Given the description of an element on the screen output the (x, y) to click on. 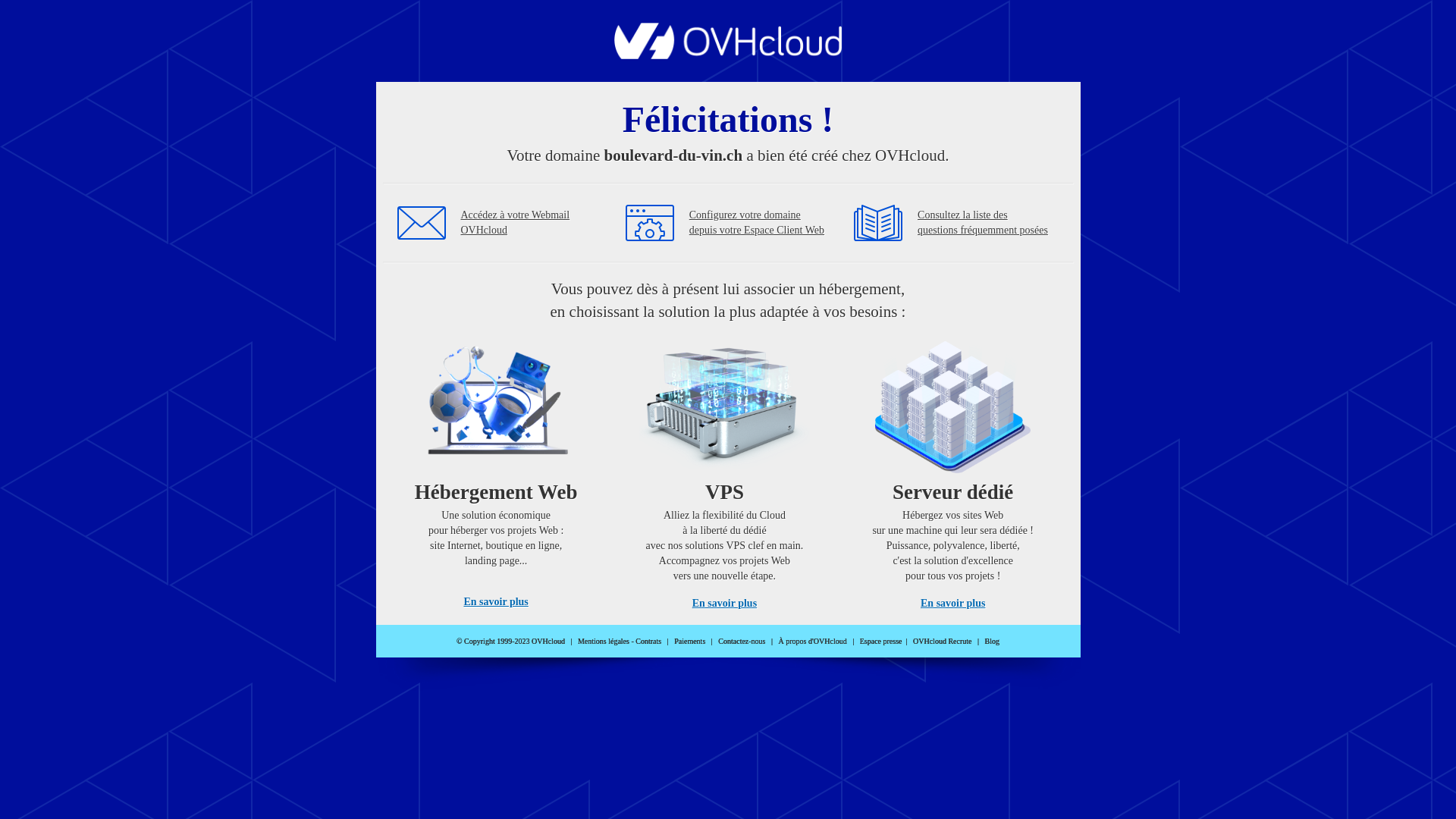
En savoir plus Element type: text (724, 602)
Espace presse Element type: text (880, 641)
OVHcloud Element type: hover (727, 54)
En savoir plus Element type: text (495, 601)
Blog Element type: text (992, 641)
VPS Element type: hover (724, 469)
Paiements Element type: text (689, 641)
Contactez-nous Element type: text (741, 641)
OVHcloud Recrute Element type: text (942, 641)
En savoir plus Element type: text (952, 602)
Configurez votre domaine
depuis votre Espace Client Web Element type: text (756, 222)
